Given the description of an element on the screen output the (x, y) to click on. 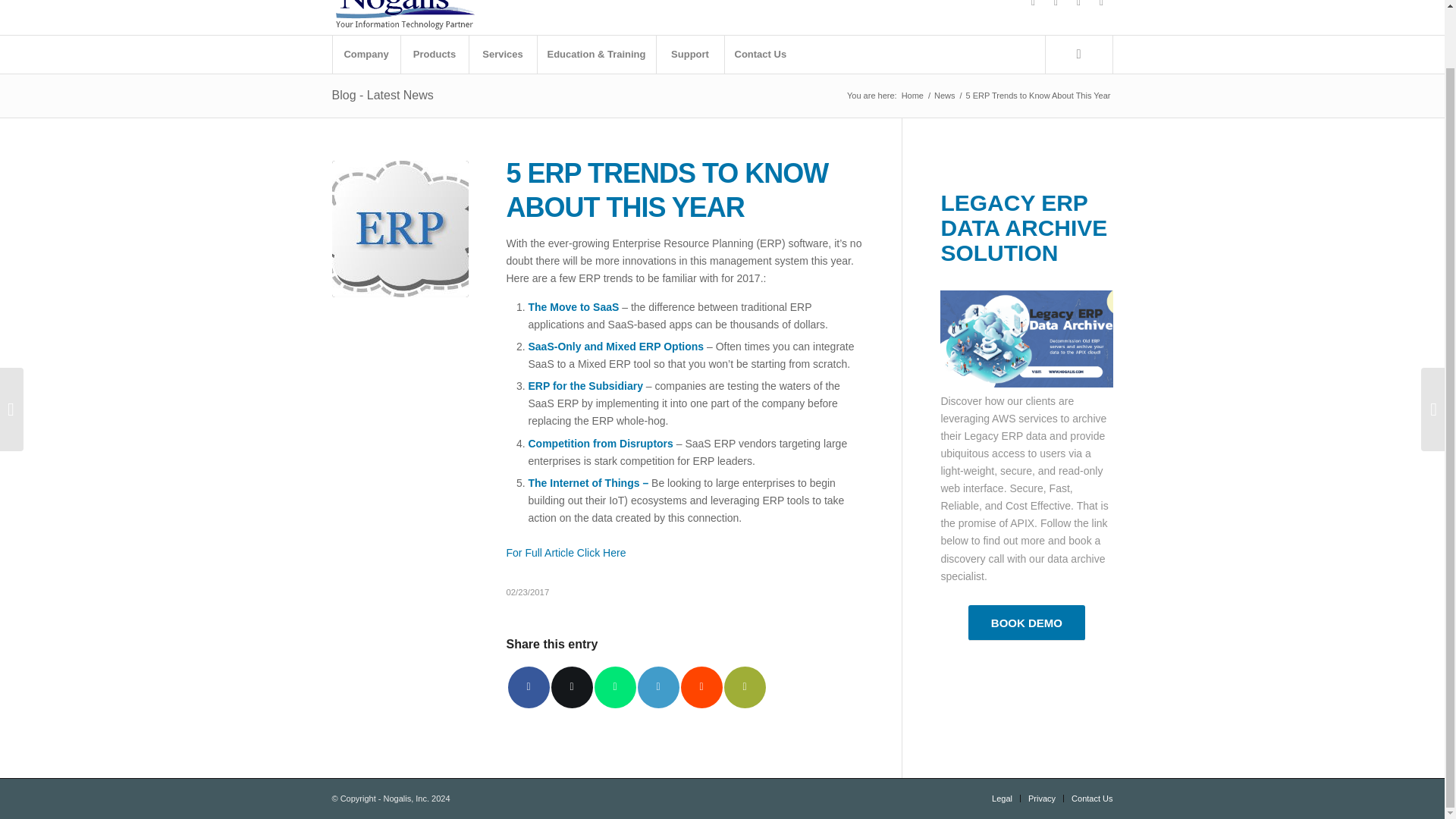
Contact Us (759, 54)
LEGACY ERP DATA ARCHIVE SOLUTION (1023, 227)
Privacy (1041, 798)
Facebook (1033, 6)
For Full Article Click Here (566, 552)
logo with slogan good (404, 17)
Contact Us (1091, 798)
cloud-erp1 (399, 228)
Services (502, 54)
Blog - Latest News (382, 94)
Mail (1101, 6)
Permanent Link: Blog - Latest News (382, 94)
Products (434, 54)
X (1056, 6)
Book a time to discuss your project with an expert (1026, 622)
